Given the description of an element on the screen output the (x, y) to click on. 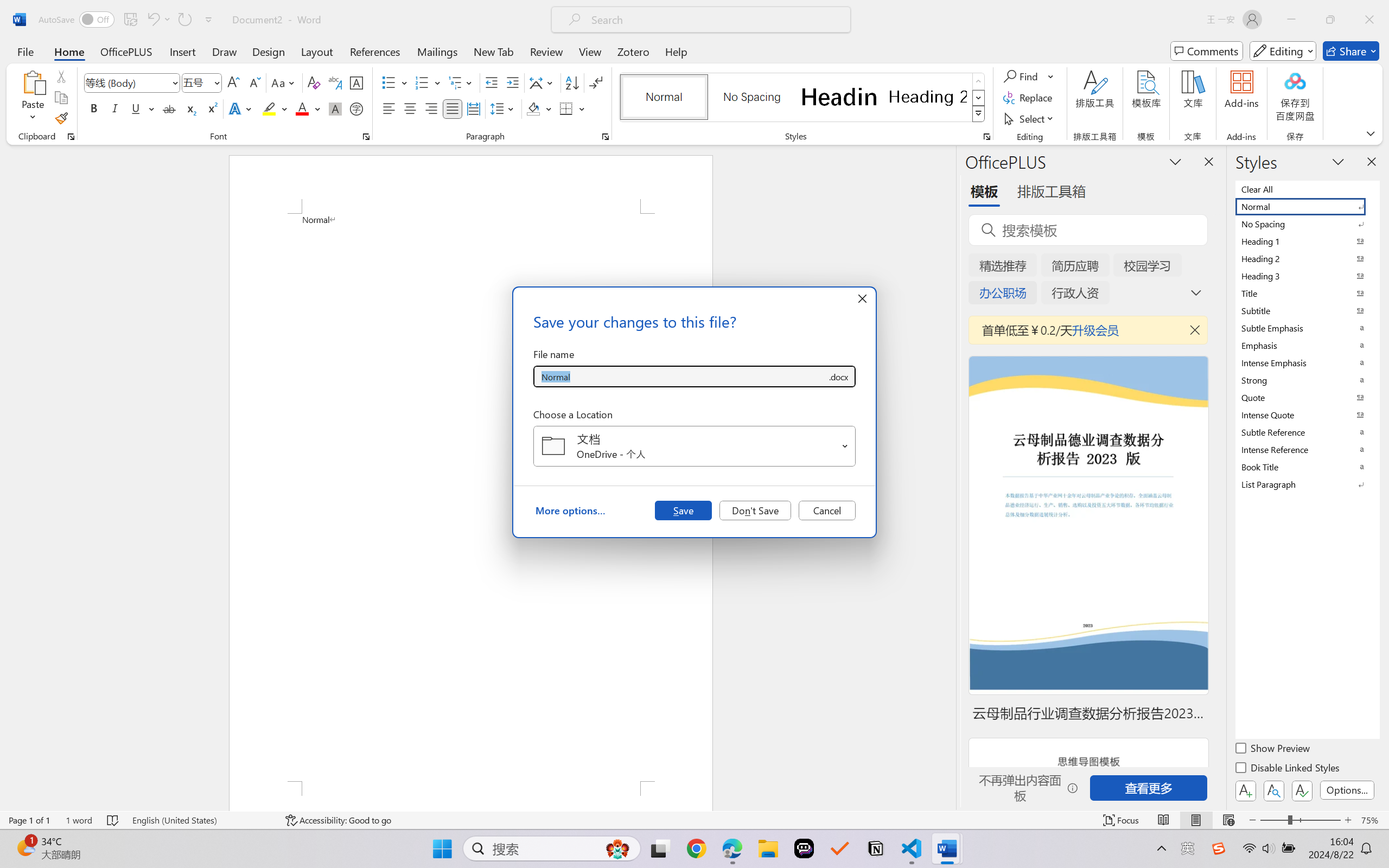
Minimize (1291, 19)
Decrease Indent (491, 82)
Office Clipboard... (70, 136)
Borders (566, 108)
Zotero (632, 51)
Font (132, 82)
Subtitle (1306, 310)
Font Color (308, 108)
Cancel (826, 509)
Don't Save (755, 509)
